Given the description of an element on the screen output the (x, y) to click on. 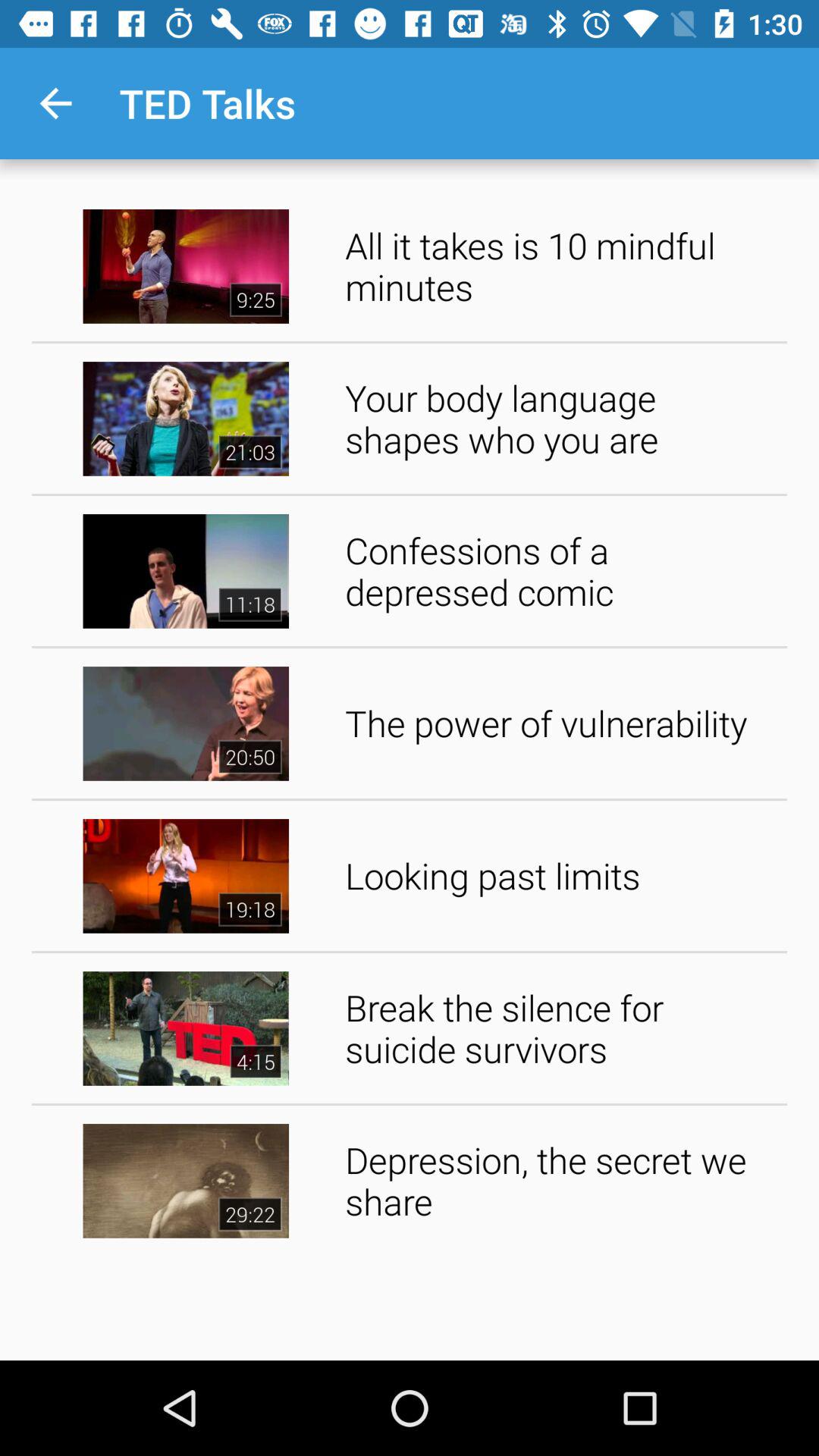
turn on item below your body language app (560, 570)
